Given the description of an element on the screen output the (x, y) to click on. 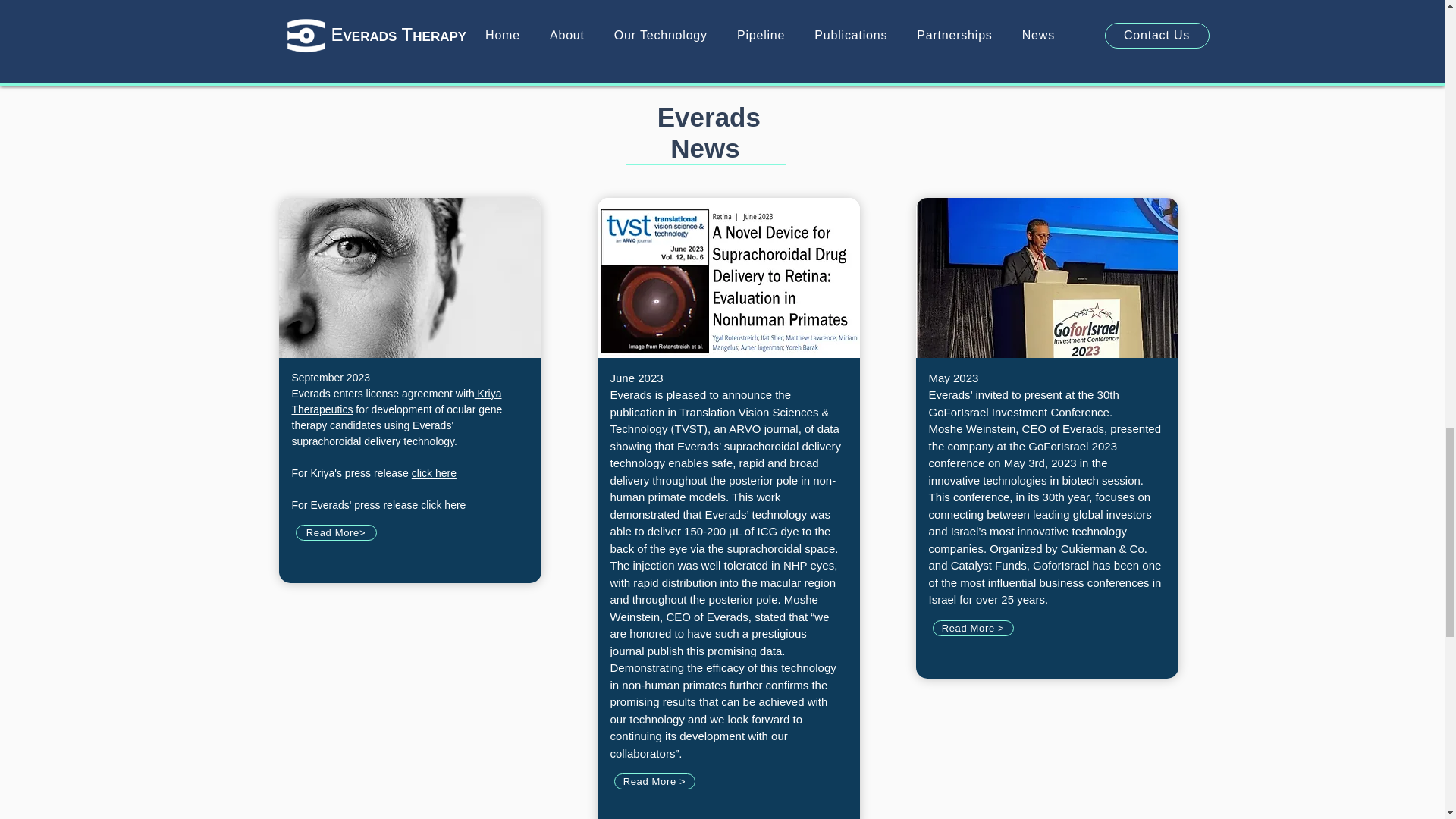
click here (442, 504)
Kriya Therapeutics (395, 401)
click here (434, 472)
